Given the description of an element on the screen output the (x, y) to click on. 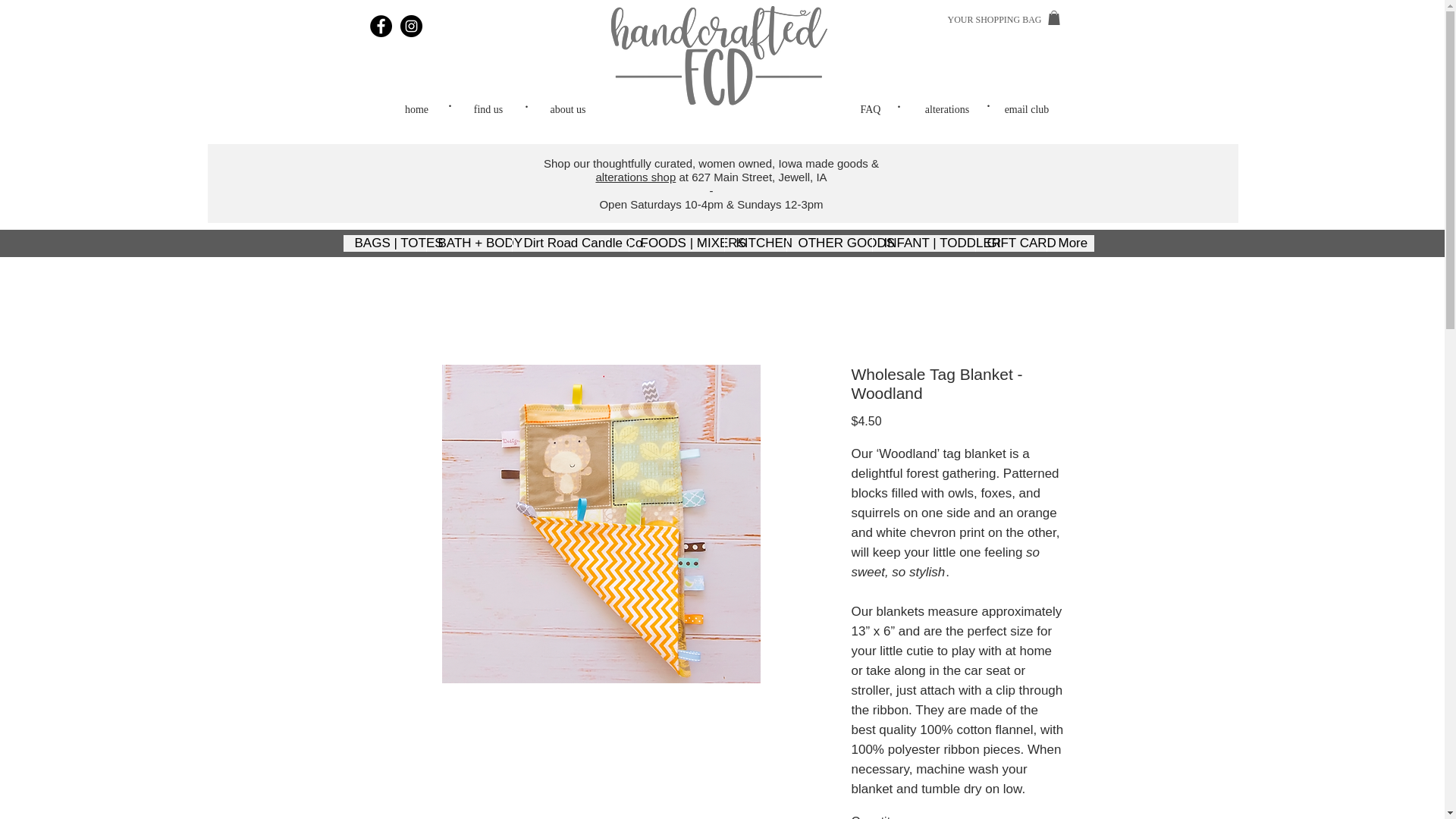
about us (567, 109)
FAQ (870, 109)
alterations shop (635, 176)
email club (1026, 109)
home (416, 109)
Dirt Road Candle Co. (569, 243)
find us (488, 109)
OTHER GOODS (828, 243)
KITCHEN (754, 243)
alterations (946, 109)
